Given the description of an element on the screen output the (x, y) to click on. 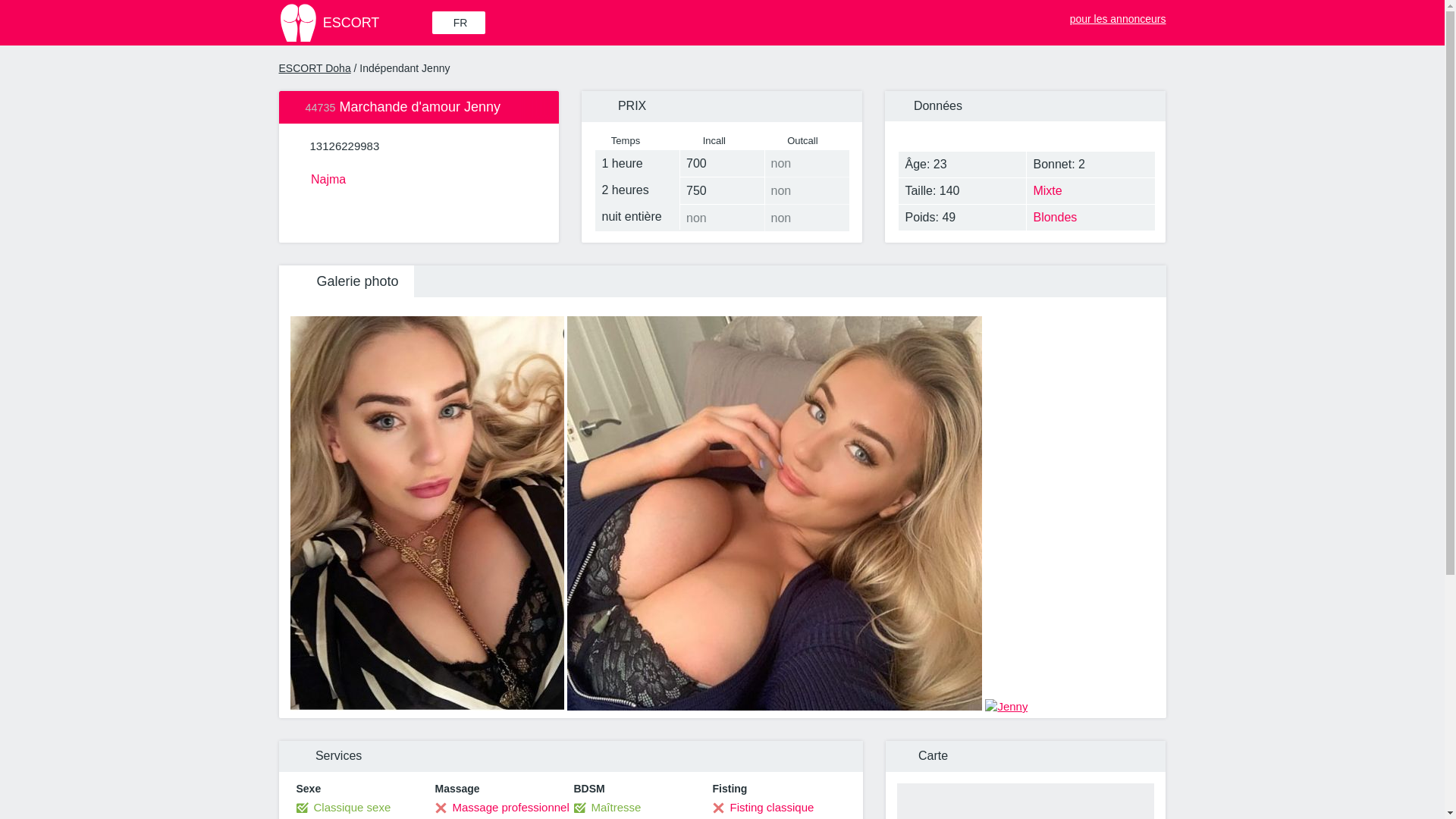
pour les annonceurs (1109, 15)
Najma (418, 177)
Galerie photo (346, 281)
Mixte (1090, 191)
ESCORT (354, 22)
13126229983 (345, 145)
Classique sexe (342, 807)
ESCORT Doha (314, 68)
Massage professionnel (502, 807)
